Given the description of an element on the screen output the (x, y) to click on. 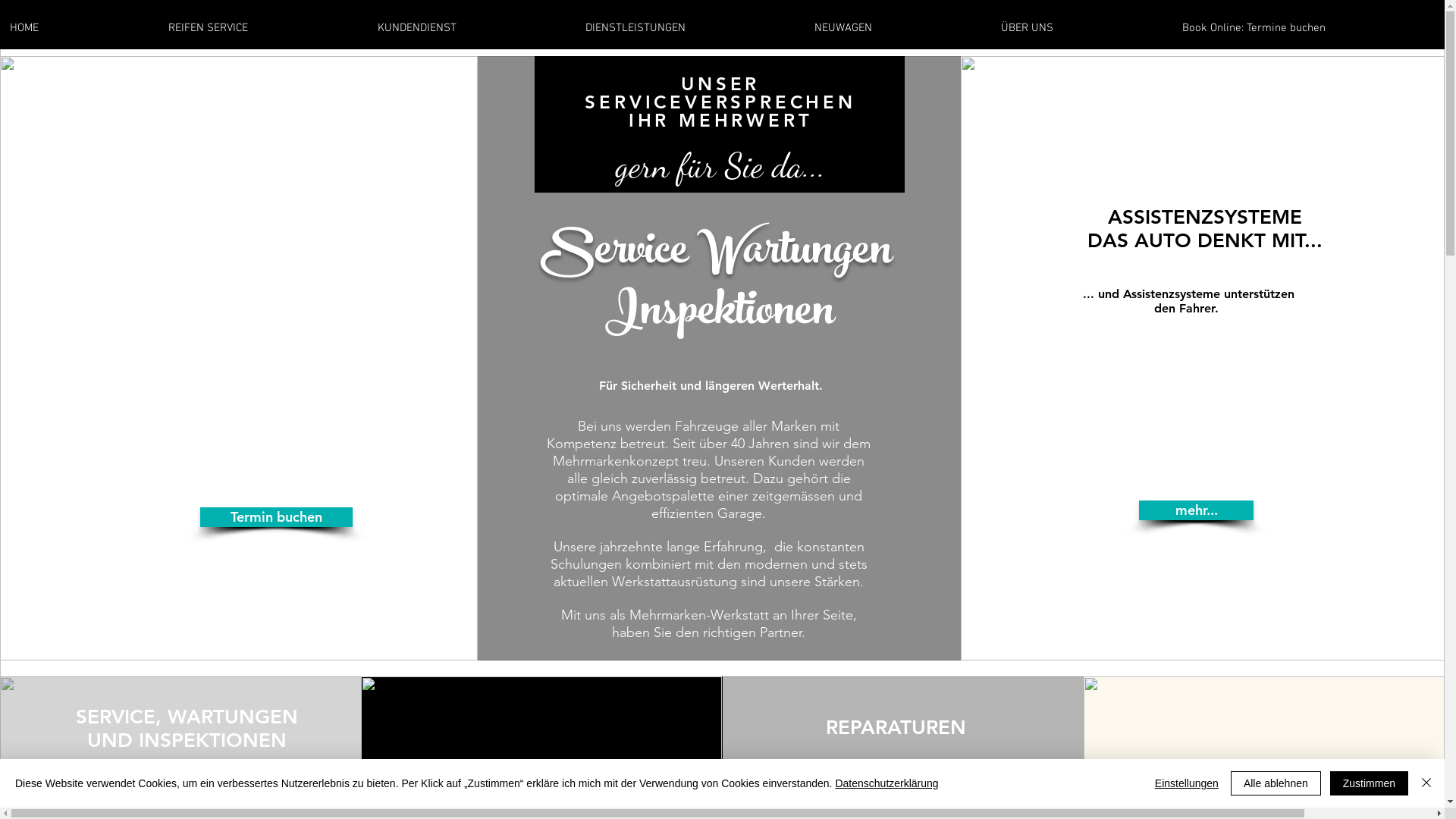
mehr... Element type: text (1196, 510)
Zustimmen Element type: text (1369, 783)
NEUWAGEN Element type: text (897, 28)
HOME Element type: text (79, 28)
KUNDENDIENST Element type: text (471, 28)
Book Online: Termine buchen Element type: text (1308, 28)
Termin buchen Element type: text (276, 517)
REIFEN SERVICE Element type: text (262, 28)
Alle ablehnen Element type: text (1275, 783)
